Given the description of an element on the screen output the (x, y) to click on. 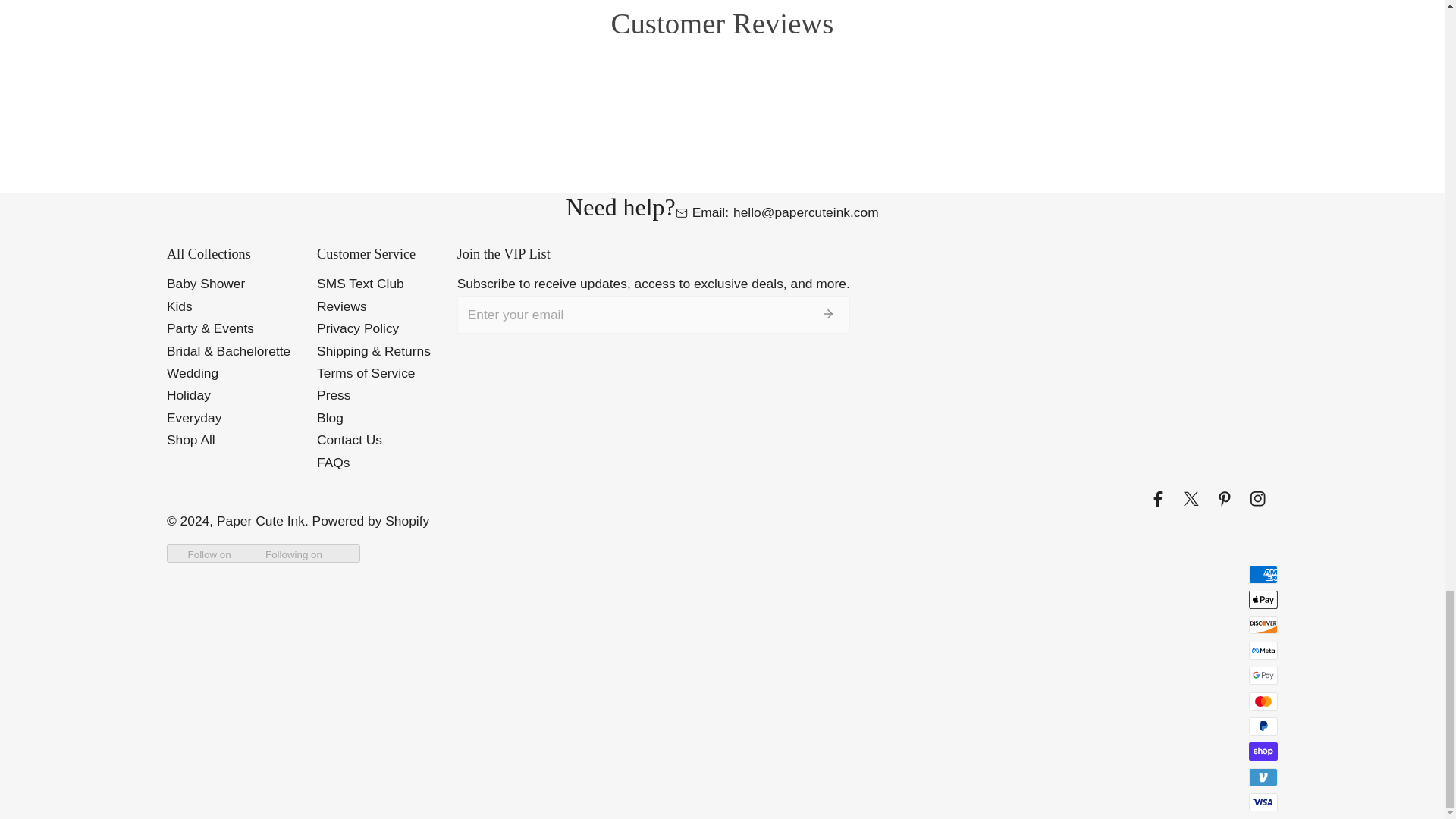
Pinterest (1227, 498)
Facebook (1160, 498)
Instagram (1261, 498)
Twitter (1194, 498)
